Given the description of an element on the screen output the (x, y) to click on. 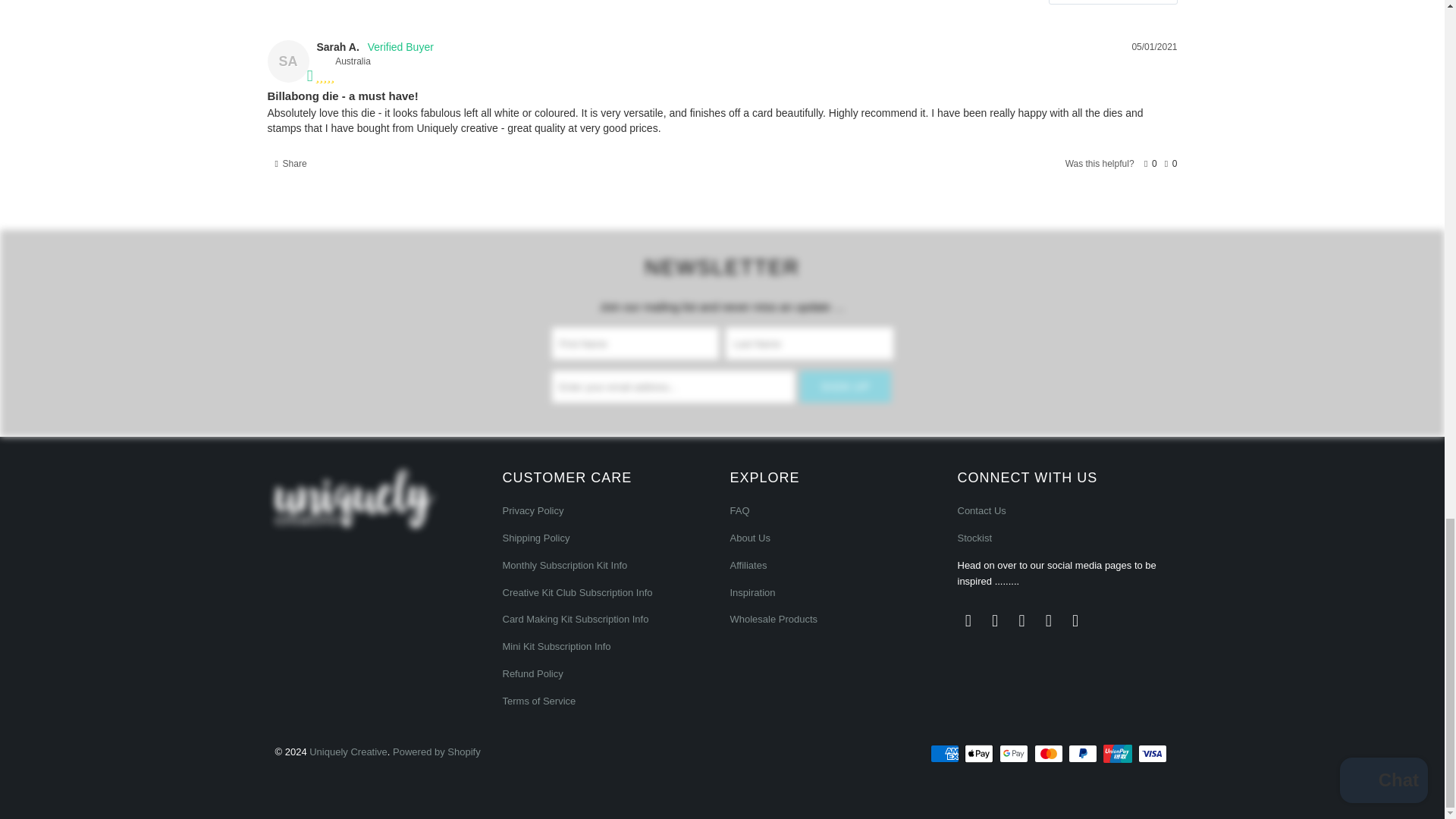
Uniquely Creative Stockists (973, 537)
CONTACT UNIQUELY CREATIVE (981, 510)
Sign Up (845, 386)
